Given the description of an element on the screen output the (x, y) to click on. 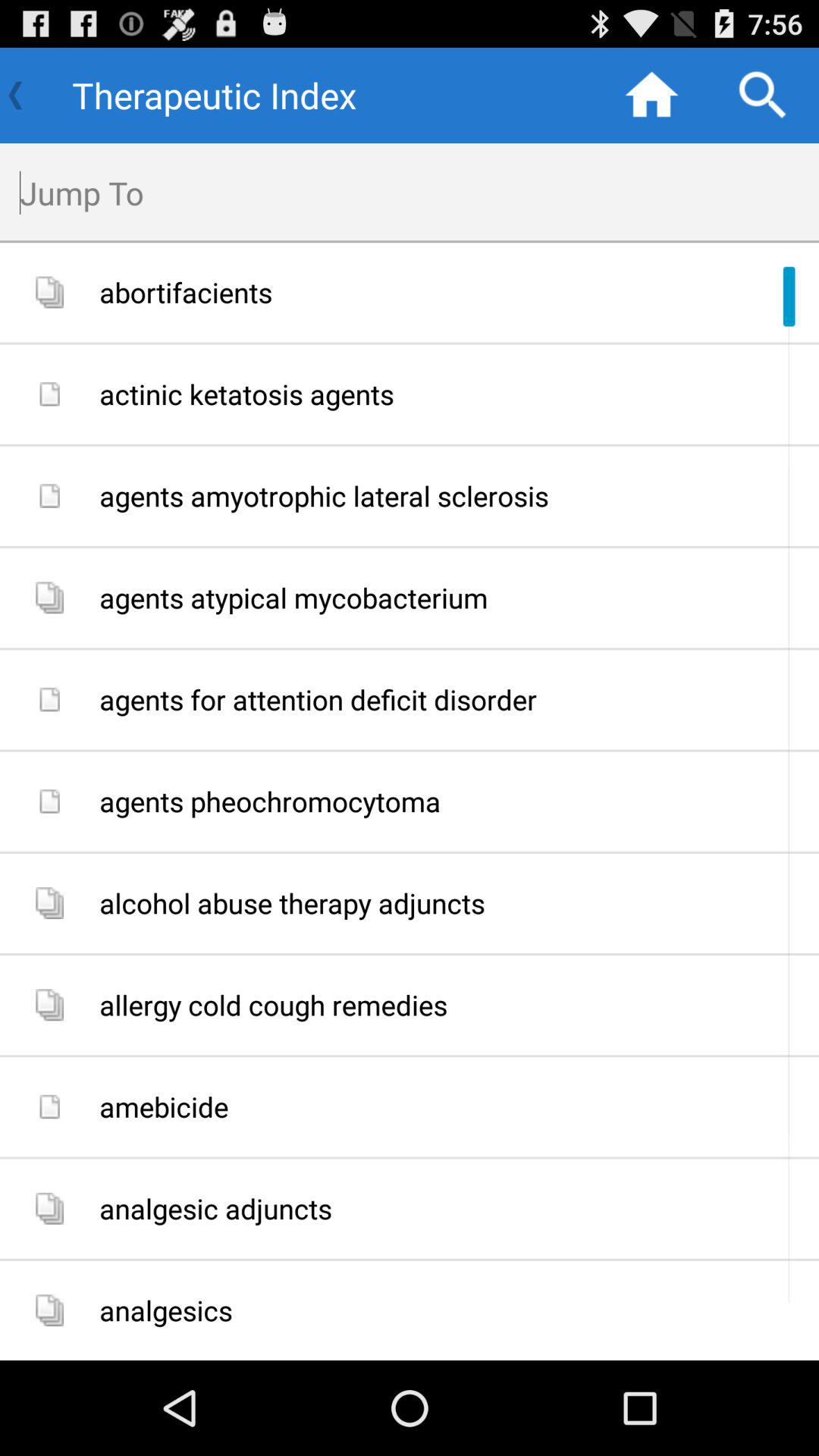
launch the item below actinic ketatosis agents (453, 496)
